Given the description of an element on the screen output the (x, y) to click on. 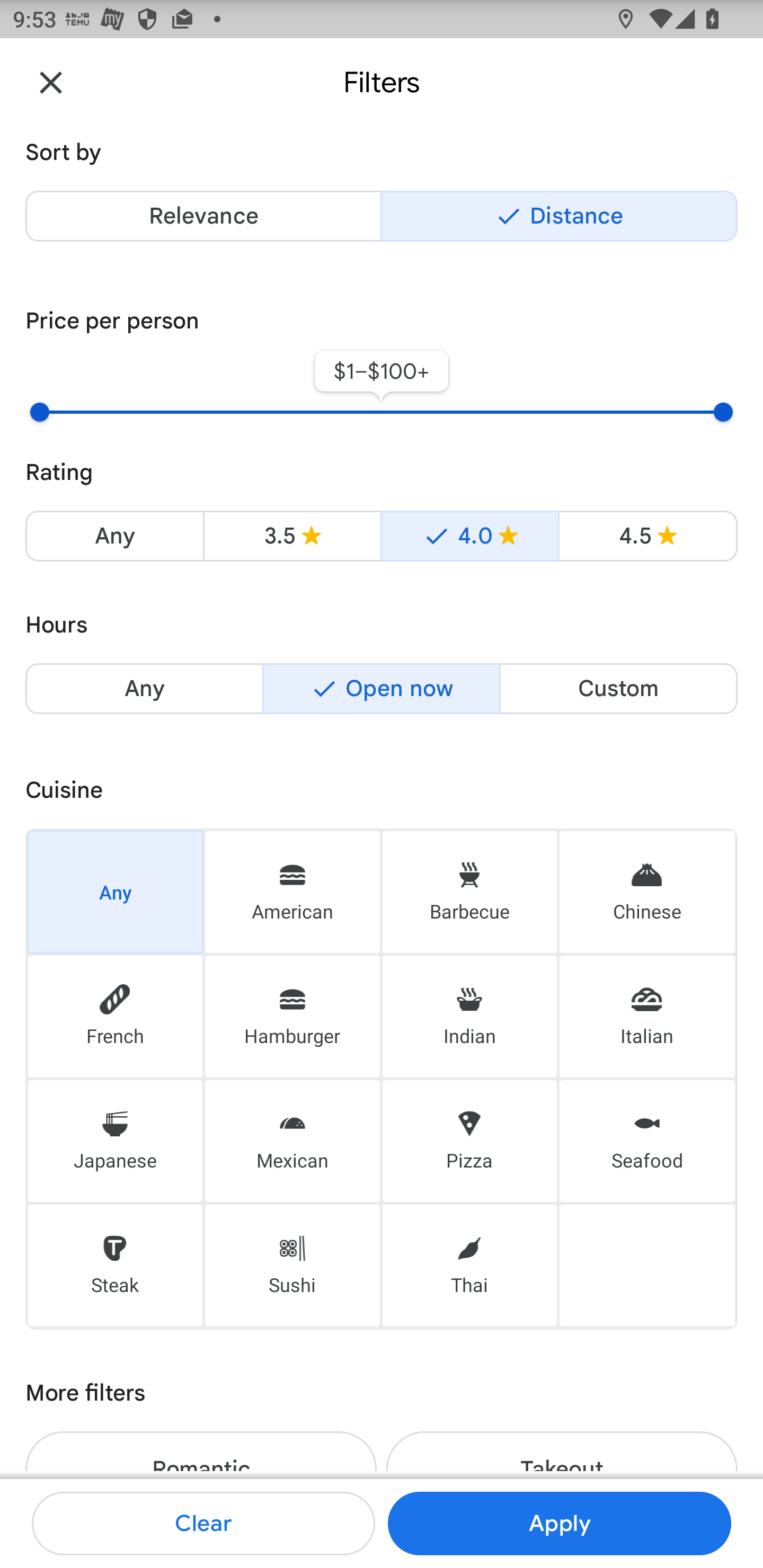
Close menu (50, 81)
Relevance (203, 216)
Distance (558, 216)
Any (114, 535)
3.5 stars (292, 535)
4.0 stars (469, 535)
4.5 stars (647, 535)
Any (144, 688)
Open now (381, 688)
Custom (618, 688)
Any (114, 891)
American (291, 891)
Barbecue (469, 891)
Chinese (647, 891)
French (114, 1016)
Hamburger (291, 1016)
Indian (469, 1016)
Italian (647, 1016)
Japanese (114, 1140)
Mexican (291, 1140)
Pizza (469, 1140)
Seafood (647, 1140)
Steak (114, 1266)
Sushi (291, 1266)
Thai (469, 1266)
Clear Clear Clear (203, 1522)
Apply Apply Apply (558, 1522)
